Given the description of an element on the screen output the (x, y) to click on. 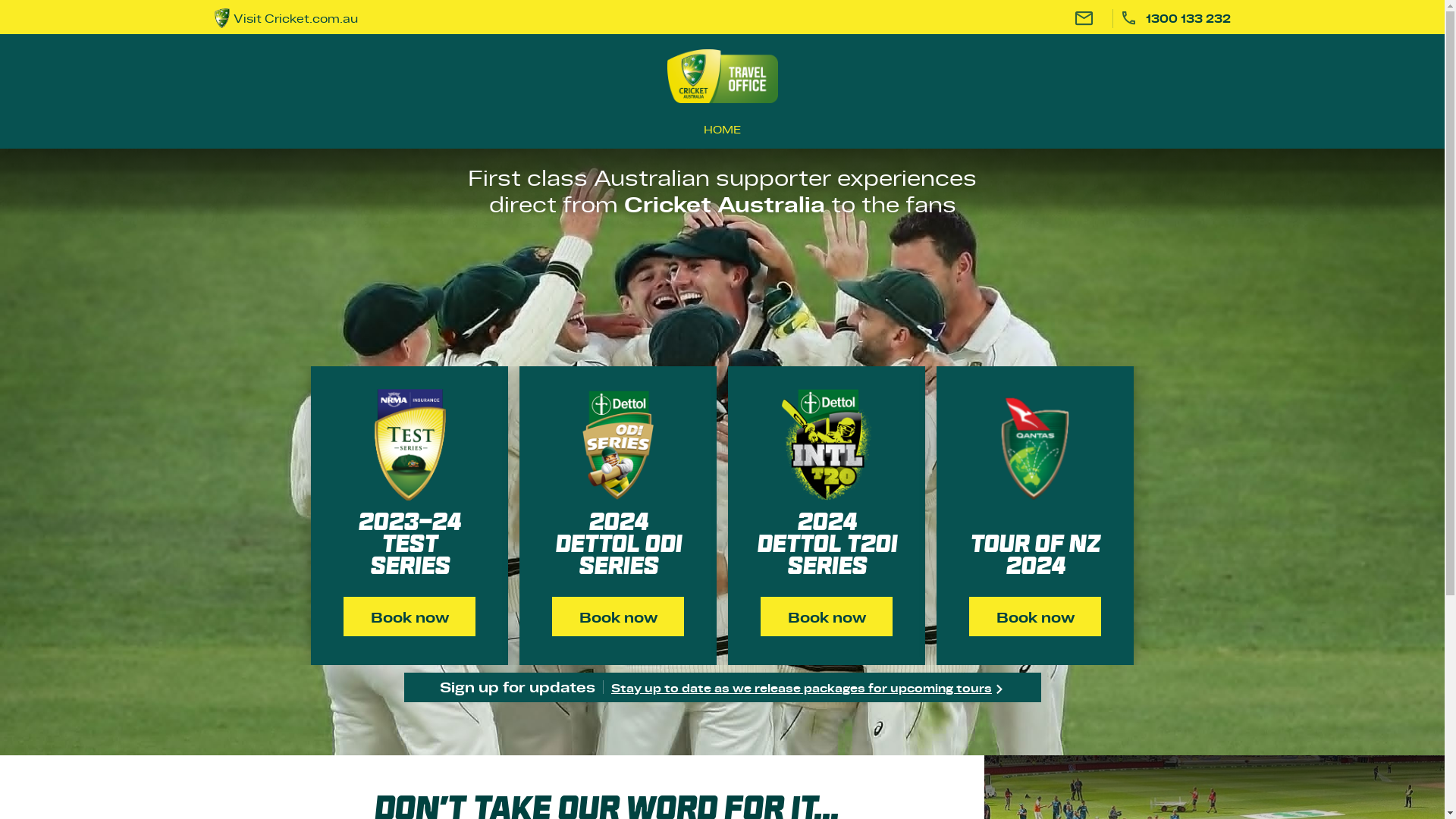
Email Element type: text (1084, 18)
Book now Element type: text (826, 616)
Book now Element type: text (618, 616)
HOME Element type: text (722, 128)
1300 133 232 Element type: text (1174, 18)
Stay up to date as we release packages for upcoming tours Element type: text (807, 686)
Book now Element type: text (1035, 616)
Visit Cricket.com.au Element type: text (382, 18)
Book now Element type: text (409, 616)
Cricket Ausralia Travel Office Element type: hover (722, 76)
